Given the description of an element on the screen output the (x, y) to click on. 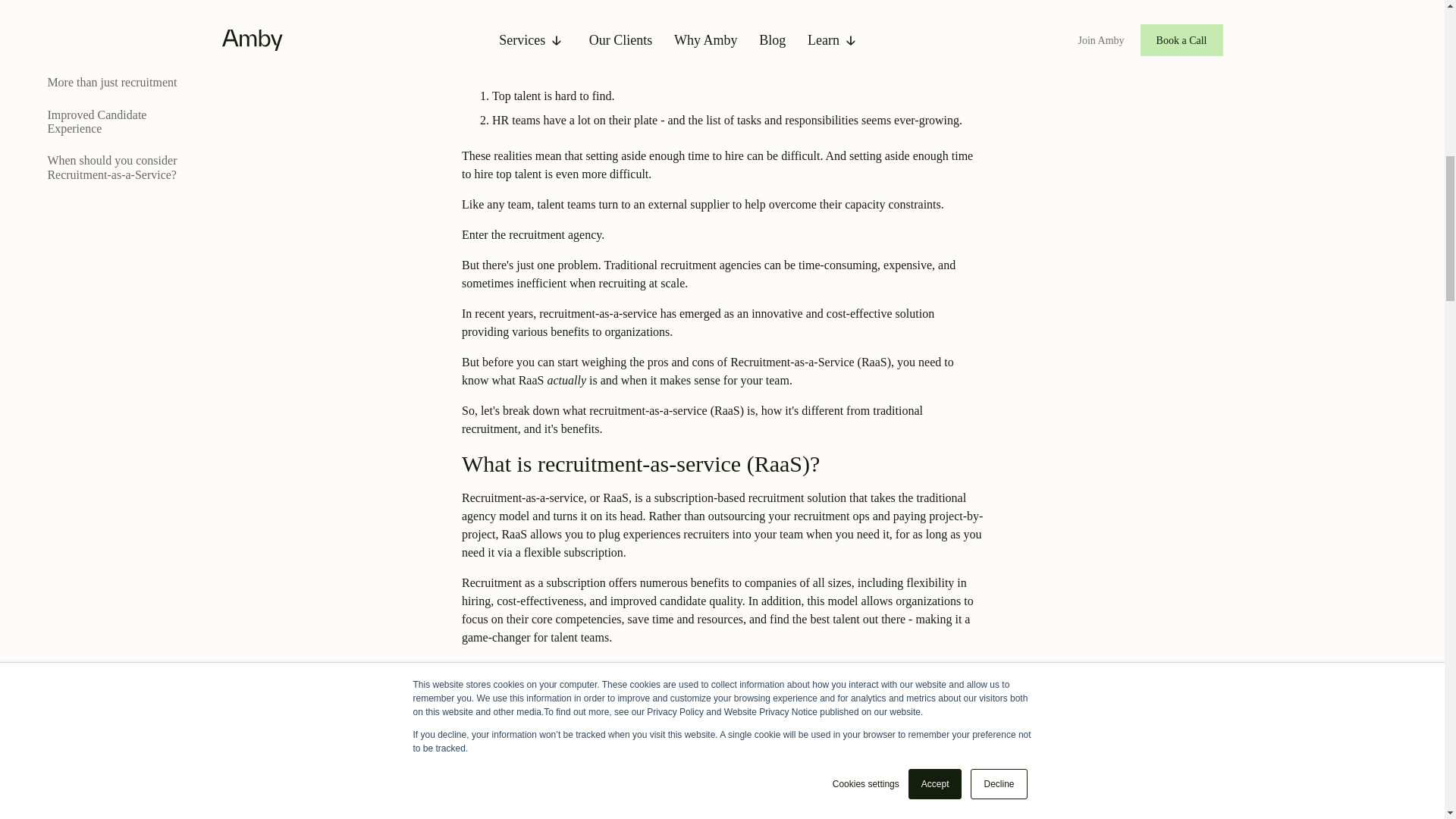
When should you consider Recruitment-as-a-Service? (120, 167)
What are the benefits of RaaS? (120, 1)
Improved Candidate Experience (120, 122)
Cost efficiency (83, 50)
Flexibility in Hiring (96, 18)
More than just recruitment (112, 82)
